Given the description of an element on the screen output the (x, y) to click on. 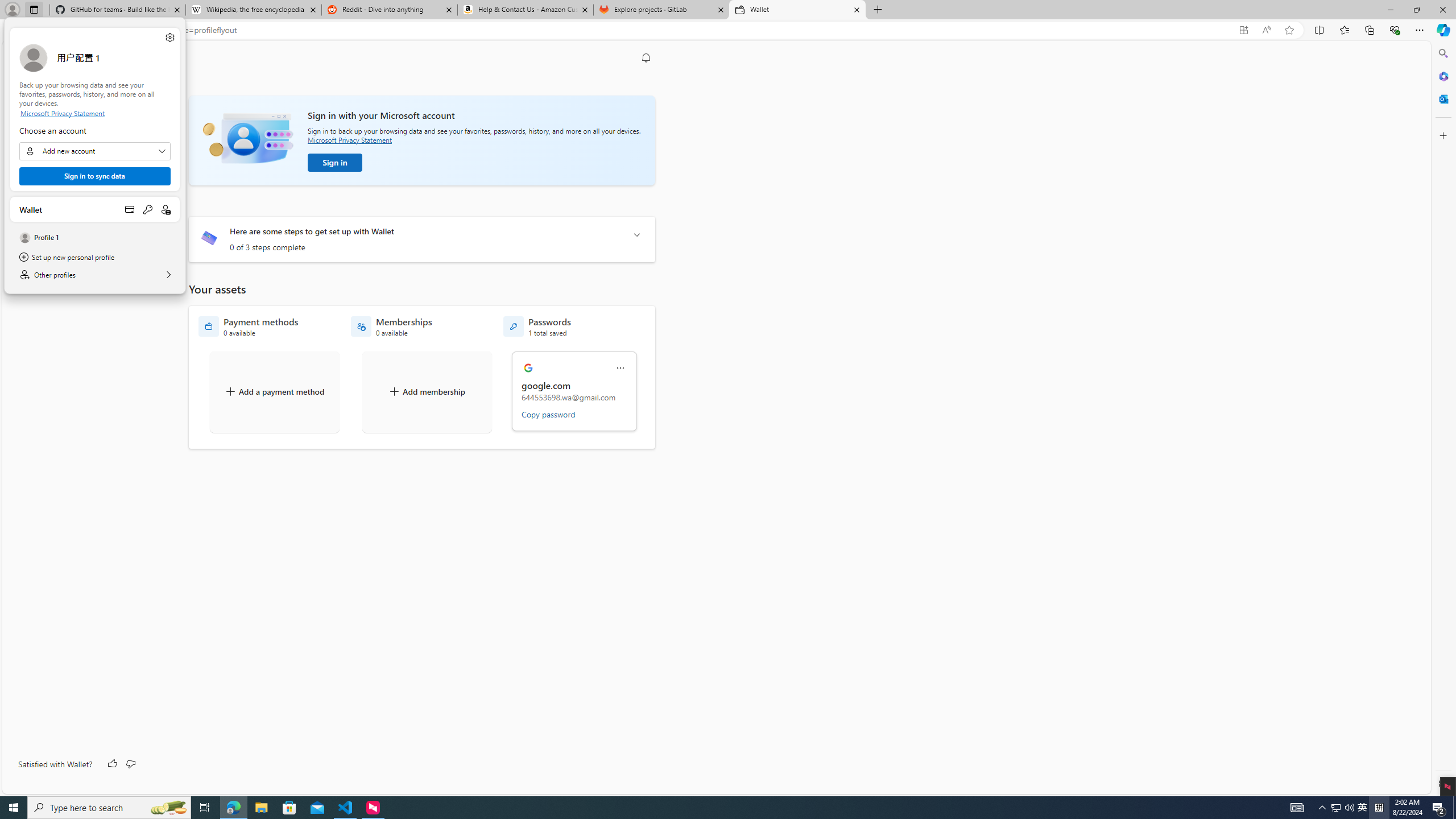
Like (112, 764)
Microsoft Privacy Statement (94, 112)
Task View (204, 807)
Tray Input Indicator - Chinese (Simplified, China) (1378, 807)
Set up new personal profile (94, 257)
Memberships - 0 available (391, 326)
File Explorer (261, 807)
Open personal info (165, 208)
